Given the description of an element on the screen output the (x, y) to click on. 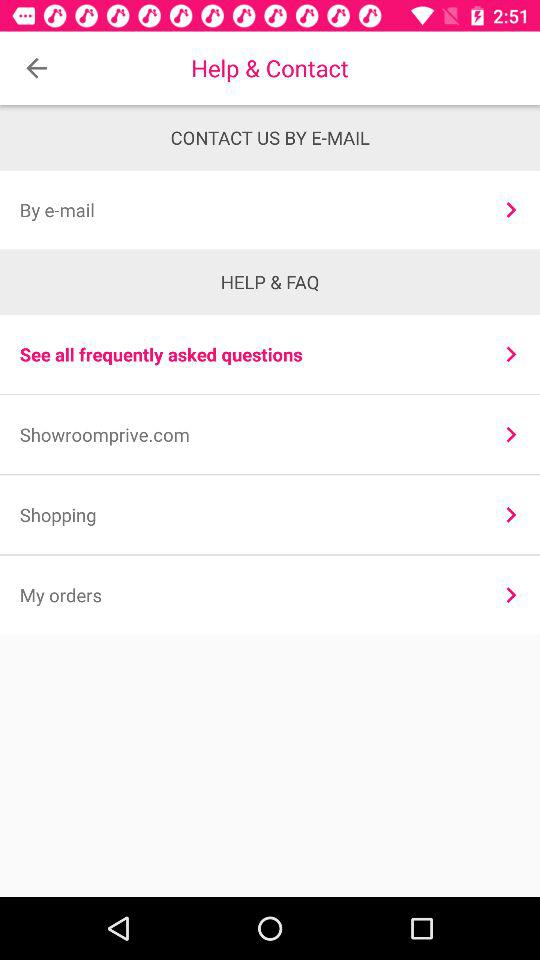
click the item to the right of showroomprive.com item (510, 434)
